Given the description of an element on the screen output the (x, y) to click on. 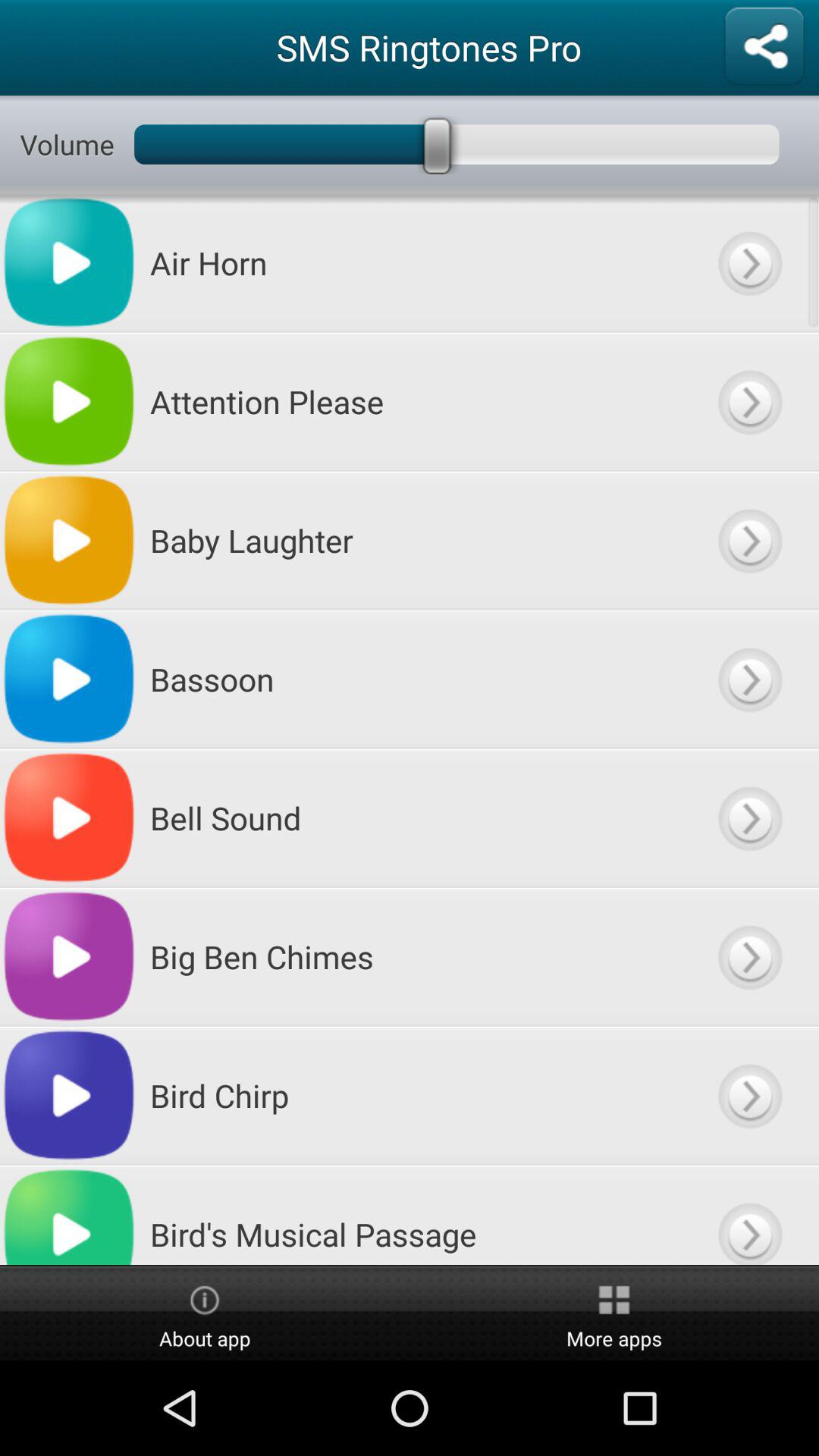
open item (749, 818)
